Given the description of an element on the screen output the (x, y) to click on. 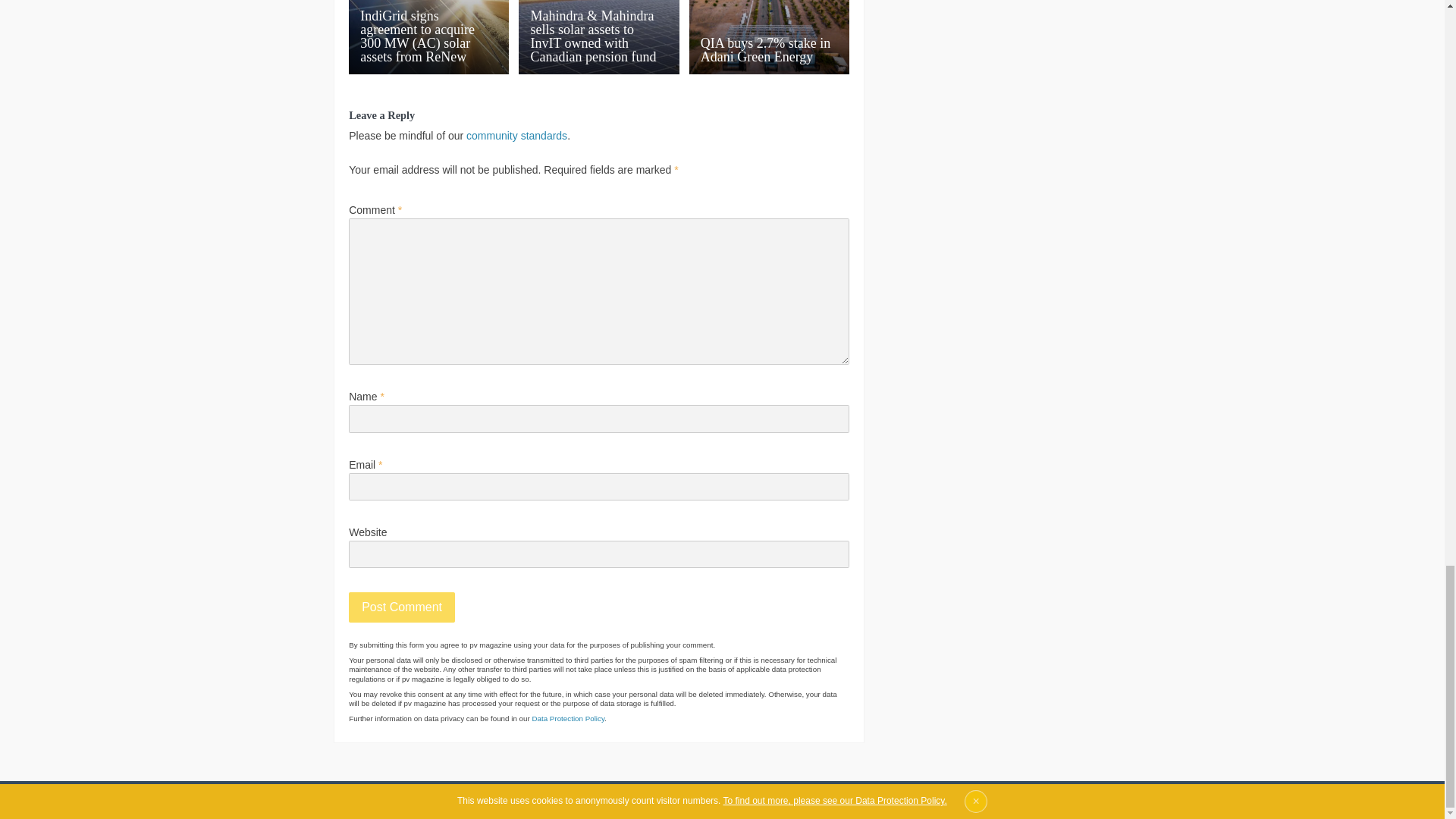
Post Comment (401, 607)
